Given the description of an element on the screen output the (x, y) to click on. 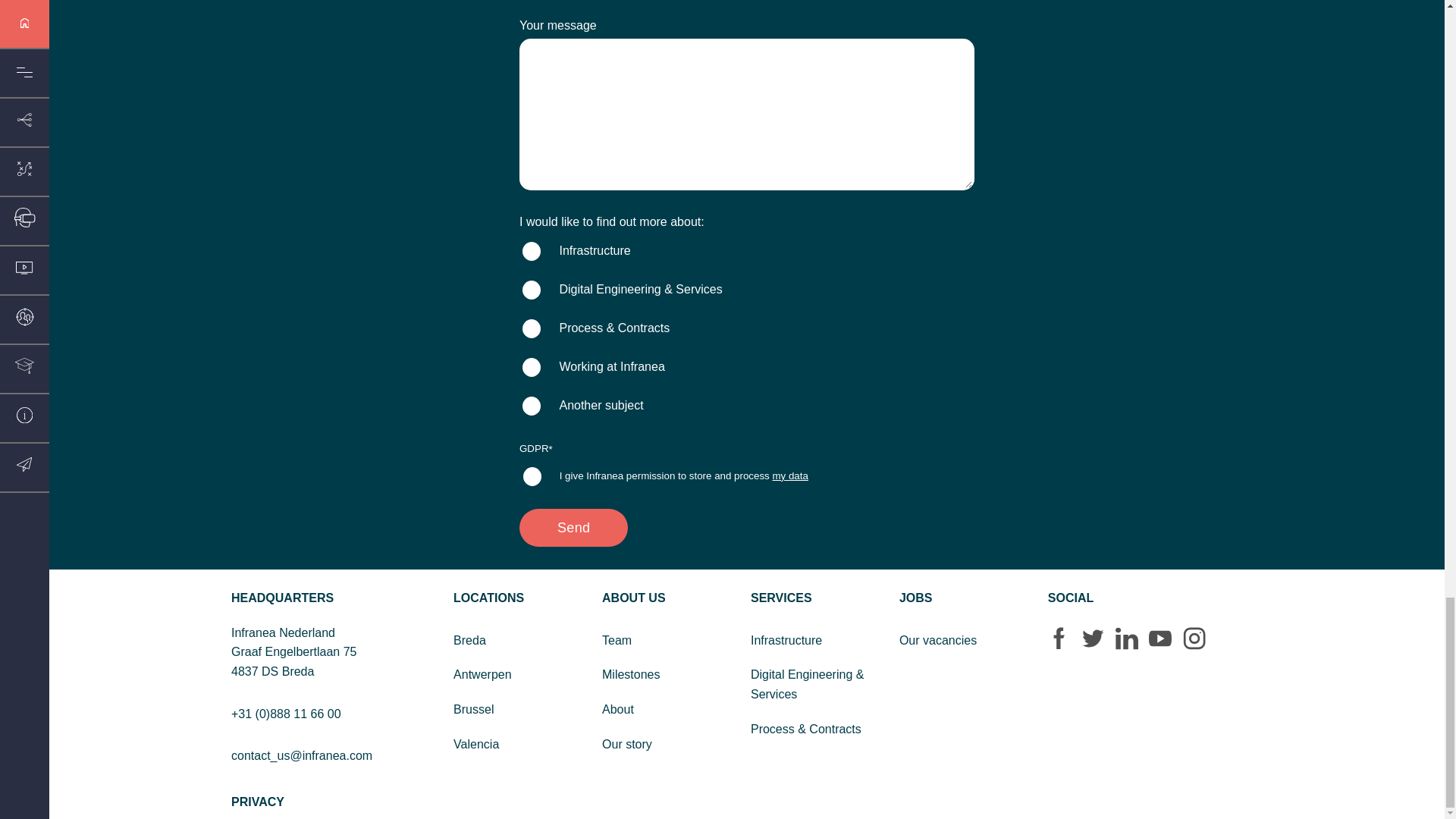
Infrastructure (531, 251)
Working at Infranea (531, 366)
Send (573, 527)
Another subject (531, 405)
